Given the description of an element on the screen output the (x, y) to click on. 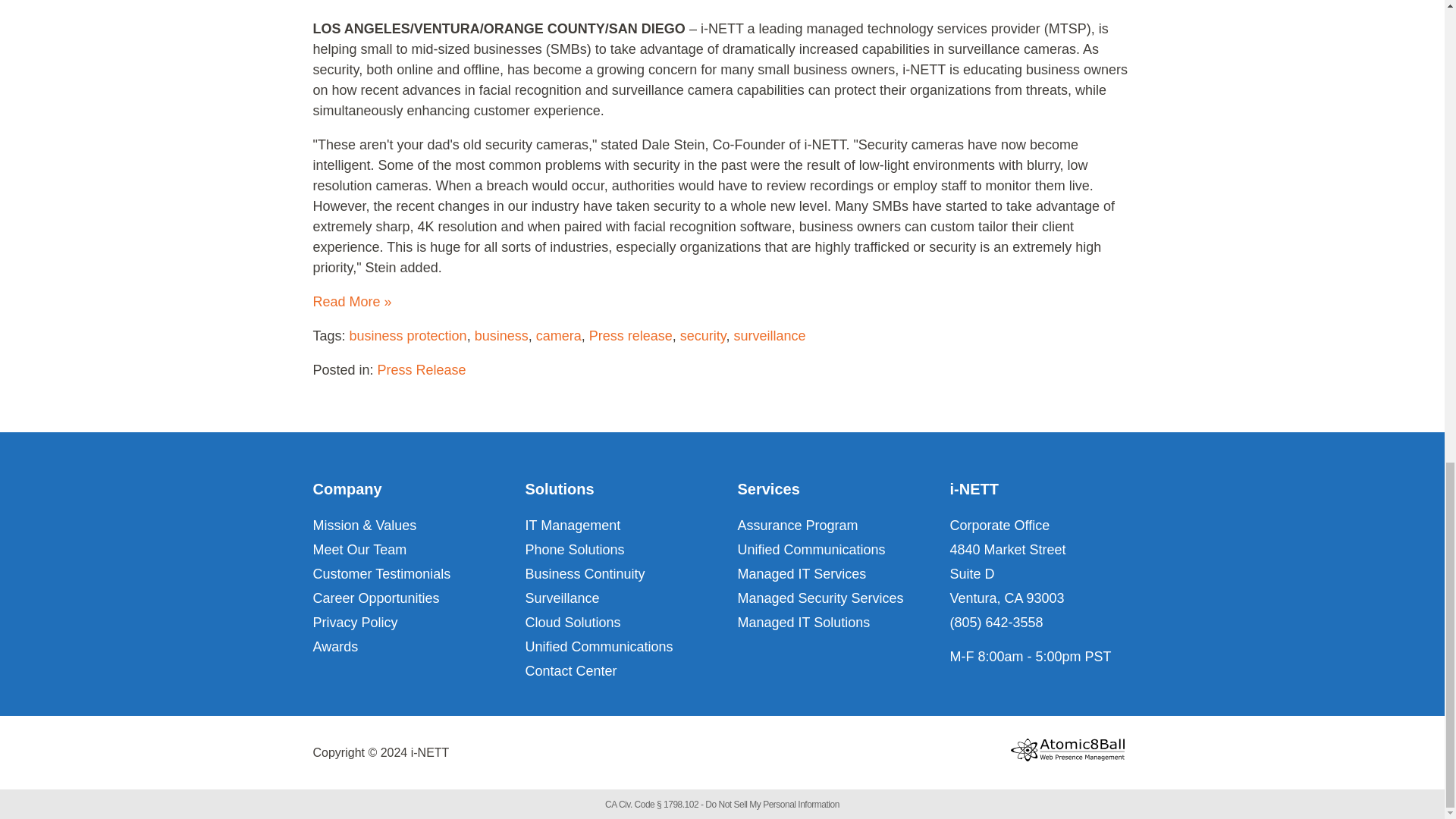
business (501, 335)
business protection (408, 335)
camera (557, 335)
